Given the description of an element on the screen output the (x, y) to click on. 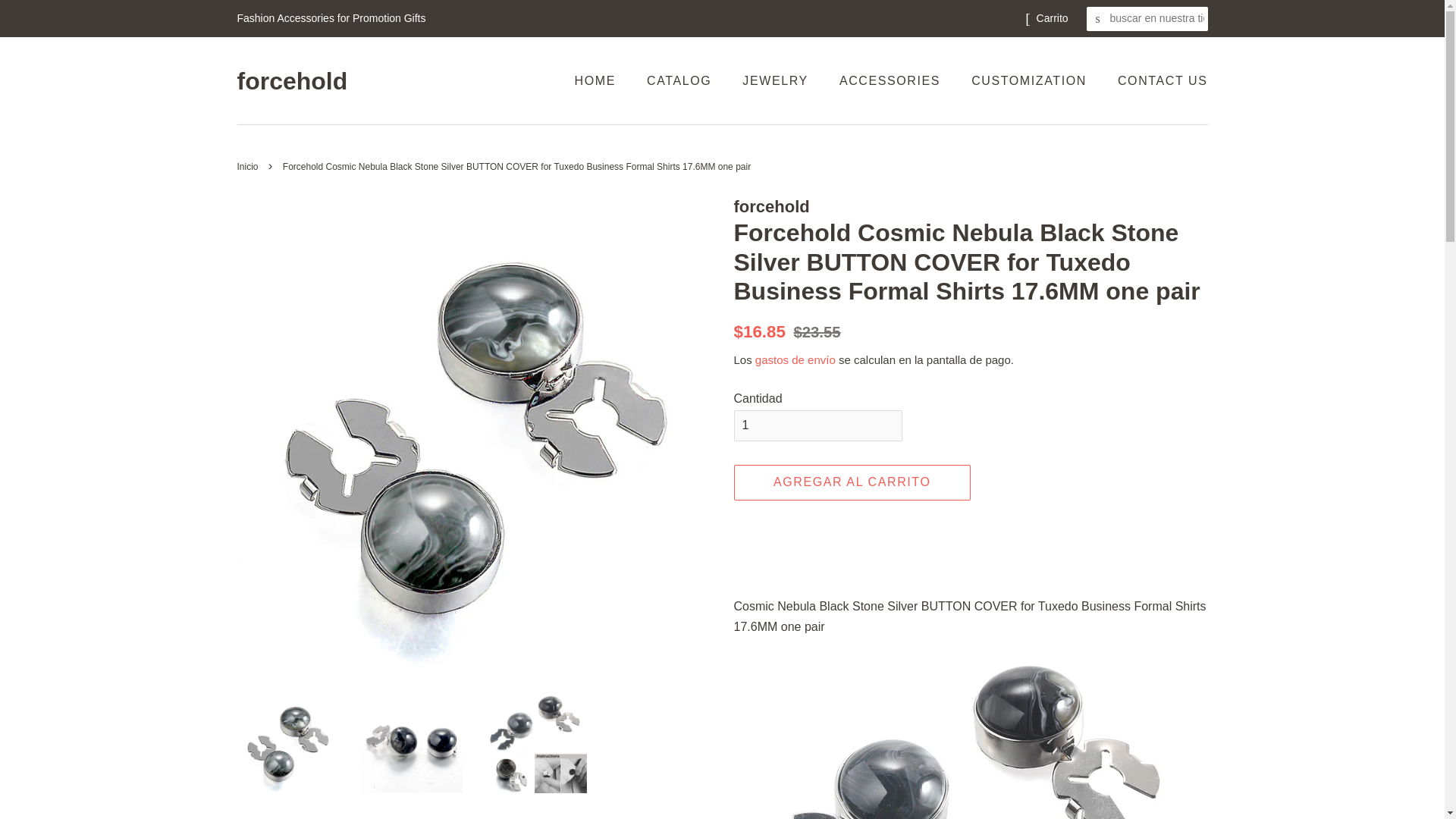
CONTACT US (1157, 80)
JEWELRY (776, 80)
BUSCAR (1097, 18)
AGREGAR AL CARRITO (852, 482)
1 (817, 425)
ACCESSORIES (891, 80)
forcehold (291, 80)
CUSTOMIZATION (1030, 80)
HOME (602, 80)
Volver a la portada (248, 166)
CATALOG (680, 80)
Fashion Accessories for Promotion Gifts (330, 18)
Inicio (248, 166)
Carrito (1052, 18)
